Given the description of an element on the screen output the (x, y) to click on. 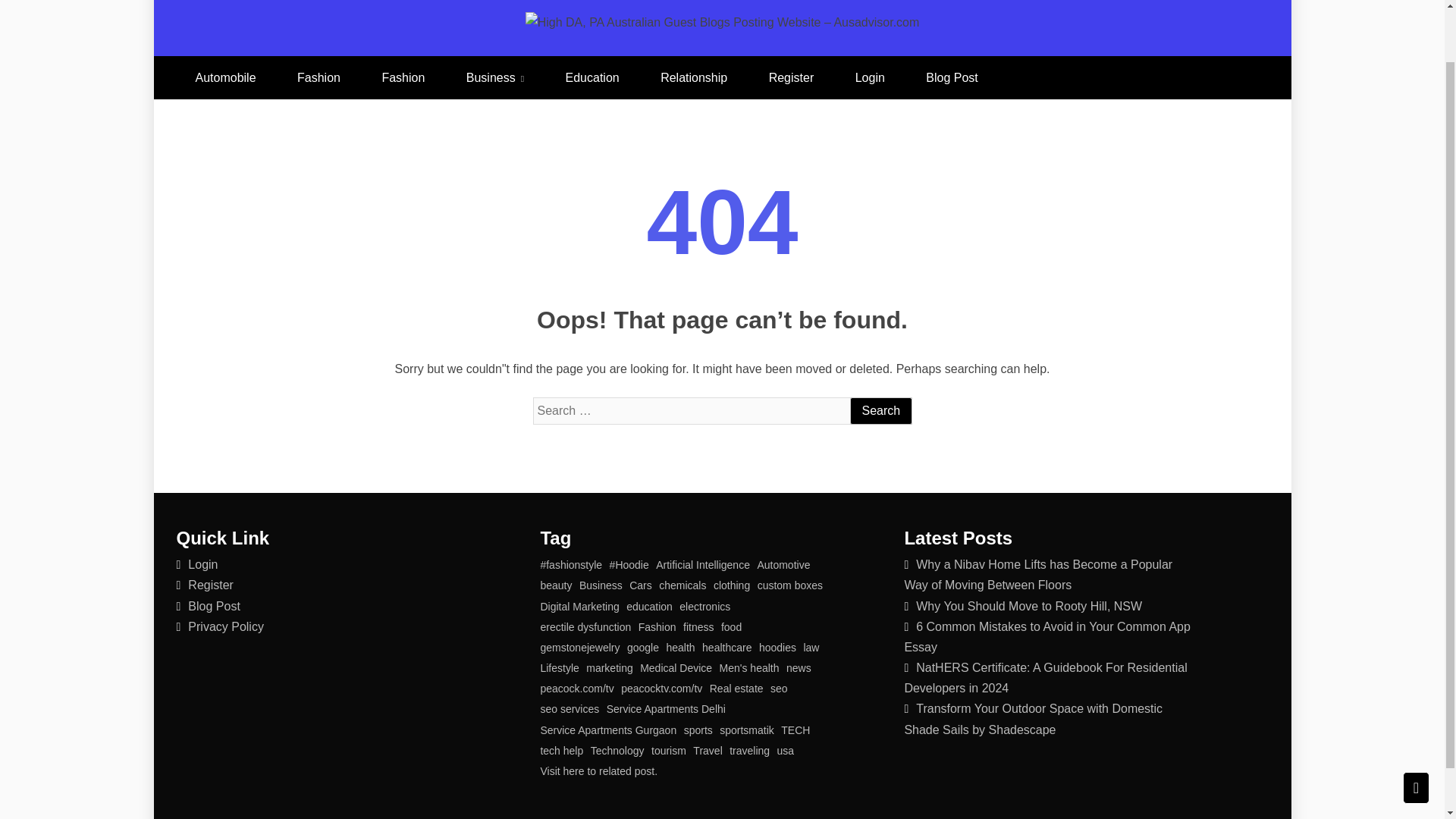
Fashion (318, 77)
google (643, 648)
Automotive (783, 565)
fitness (697, 628)
Blog Post (213, 605)
Business (601, 586)
beauty (556, 586)
Digital Marketing (579, 607)
Artificial Intelligence (702, 565)
erectile dysfunction (585, 628)
